Given the description of an element on the screen output the (x, y) to click on. 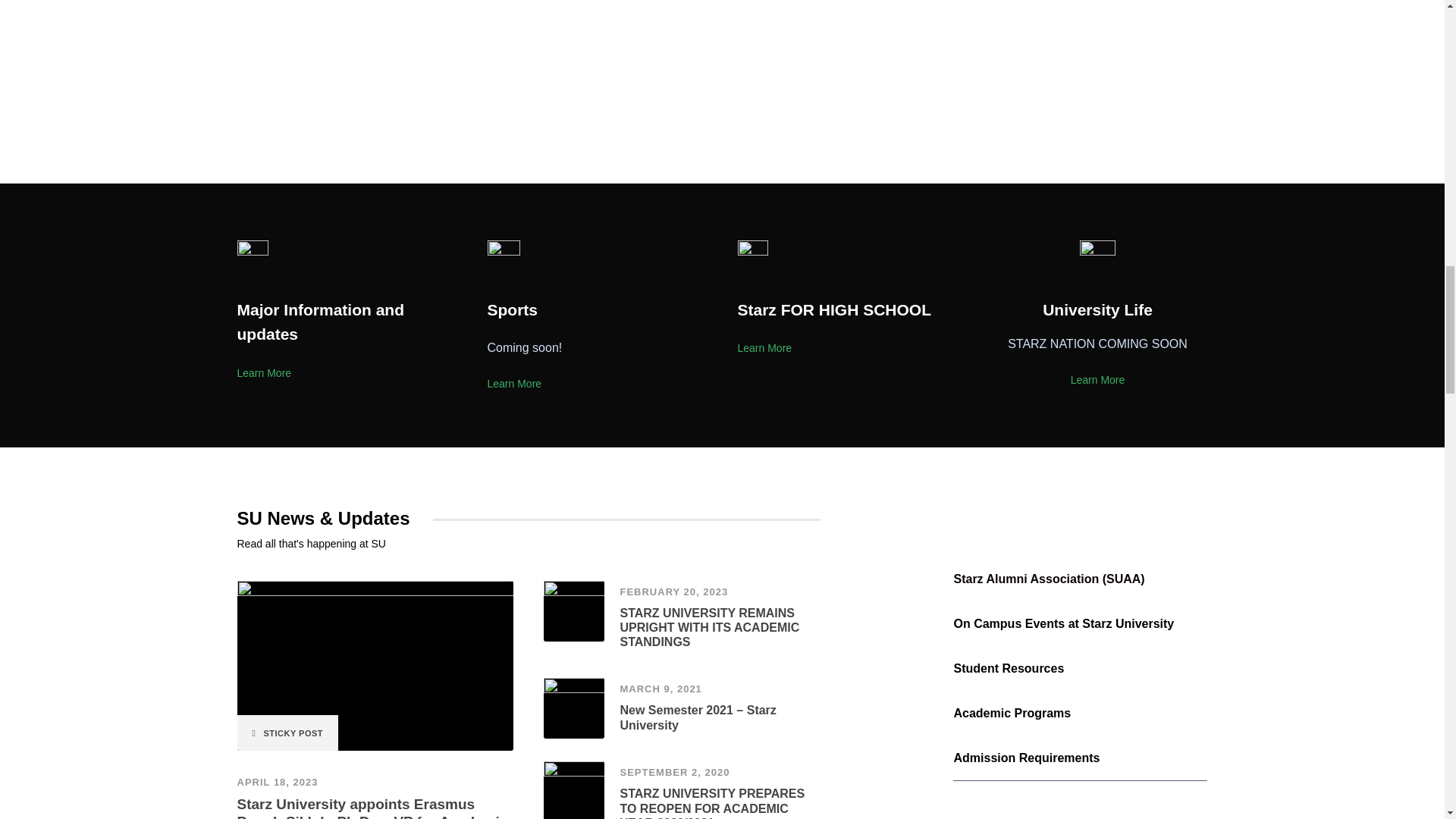
col-icon-1 (251, 255)
col-icon-3 (751, 256)
3683FEE0-758F-43C3-AED7-537BE64582DD (573, 610)
col-icon-2 (502, 257)
Starz University (573, 708)
col-icon-4 (1097, 258)
